Given the description of an element on the screen output the (x, y) to click on. 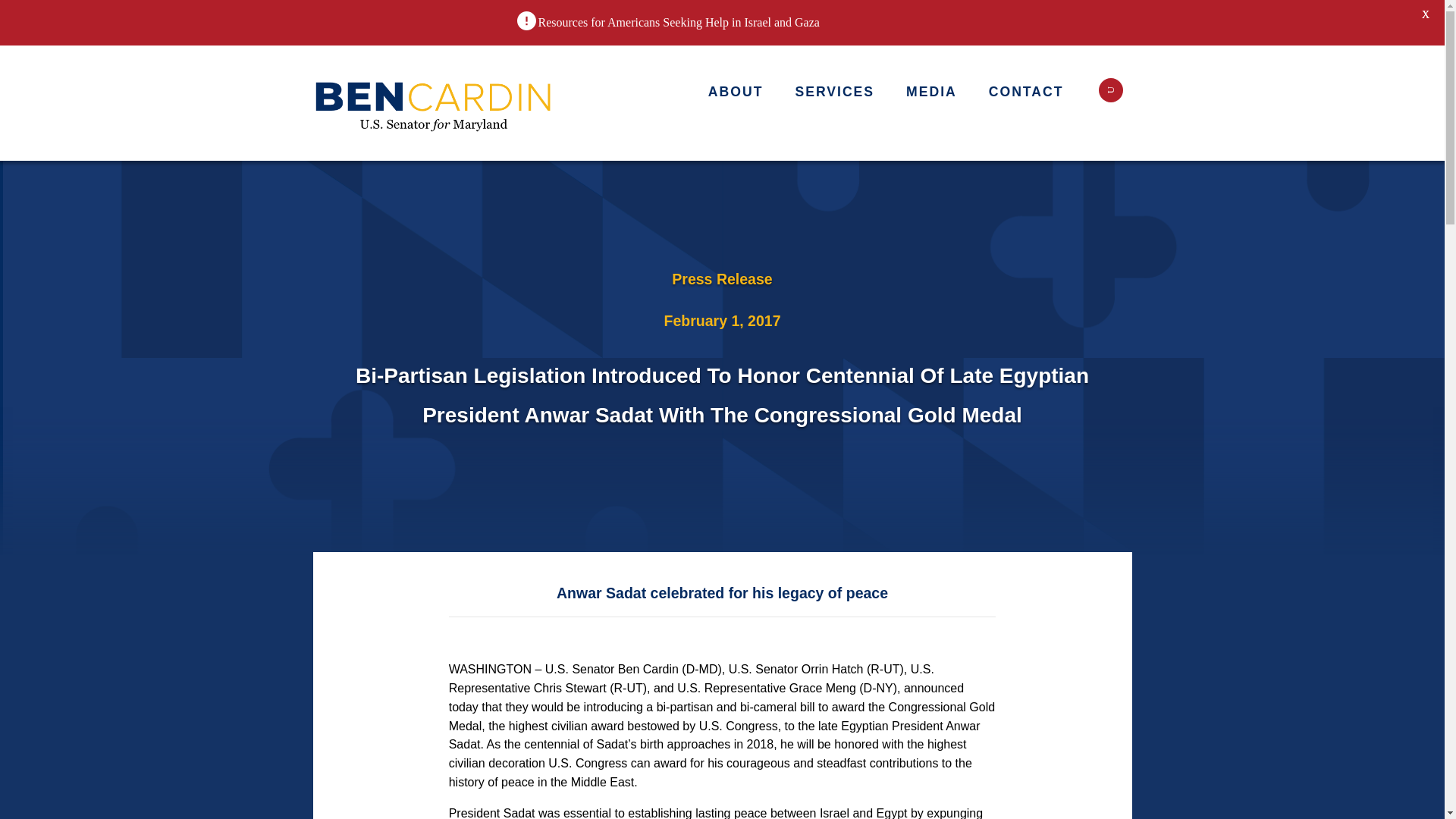
Large-Inner (433, 102)
